Given the description of an element on the screen output the (x, y) to click on. 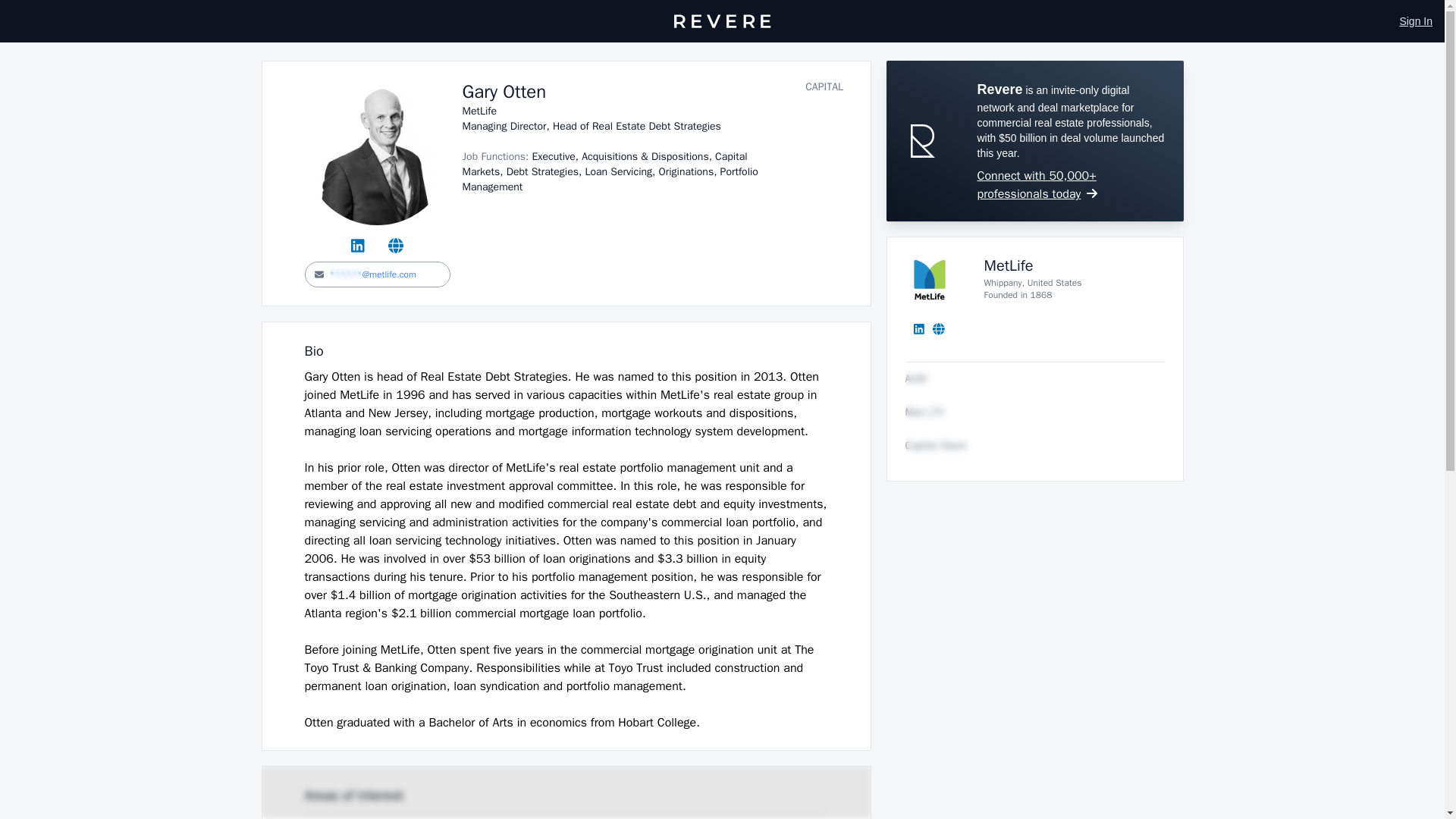
RevereCRE (721, 21)
Sign In (1415, 20)
MetLife (1008, 265)
